Given the description of an element on the screen output the (x, y) to click on. 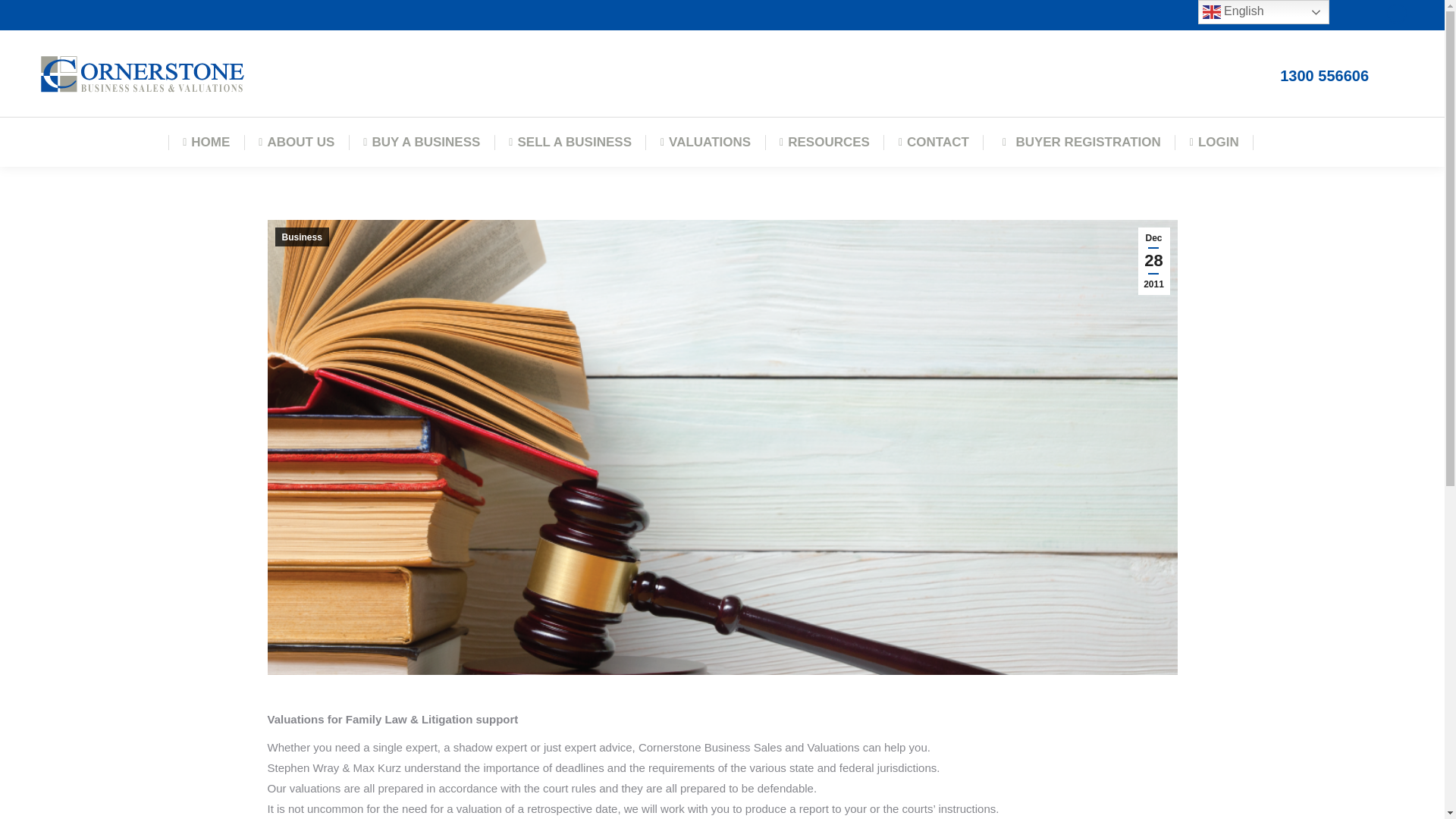
BUYER REGISTRATION (1079, 142)
Facebook page opens in new window (1396, 13)
HOME (205, 142)
Facebook page opens in new window (1396, 13)
BUY A BUSINESS (421, 142)
ABOUT US (296, 142)
CONTACT (933, 142)
VALUATIONS (705, 142)
RESOURCES (824, 142)
SELL A BUSINESS (570, 142)
LOGIN (1214, 142)
